Given the description of an element on the screen output the (x, y) to click on. 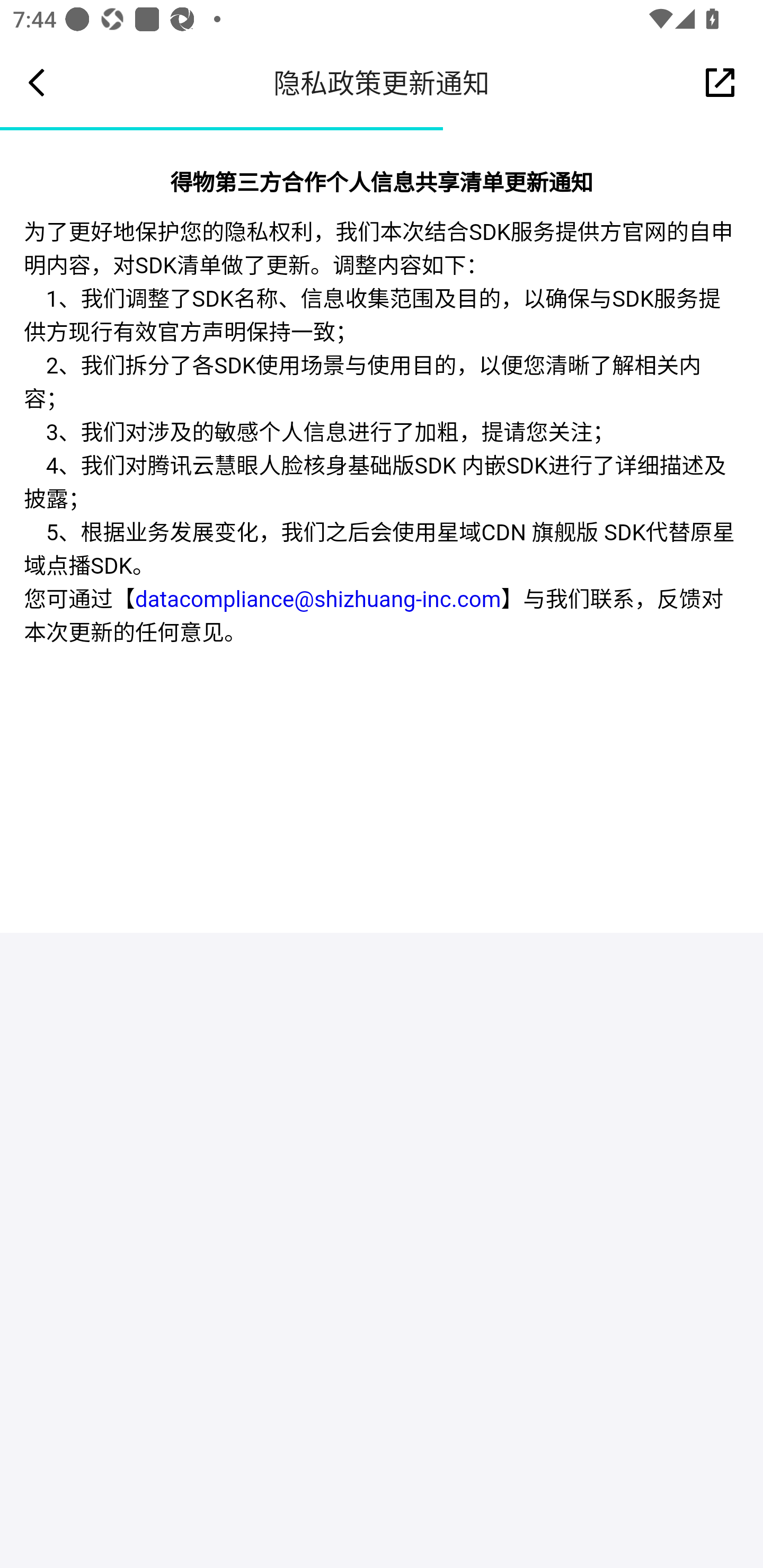
Navigate up (36, 82)
datacompliance@shizhuang-inc.com (318, 599)
